Given the description of an element on the screen output the (x, y) to click on. 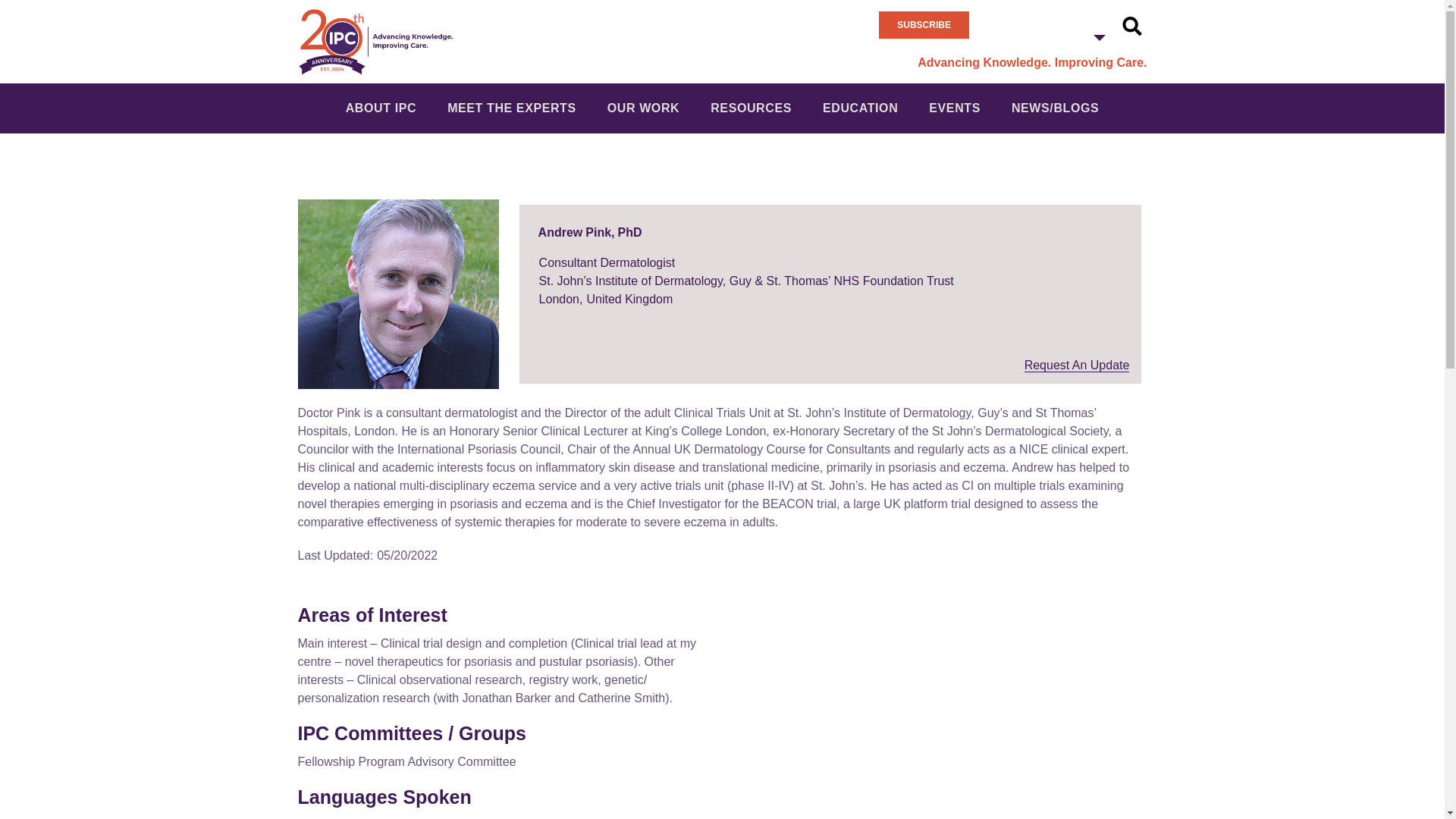
MEET THE EXPERTS (511, 108)
EDUCATION (860, 108)
OUR WORK (643, 108)
RESOURCES (750, 108)
ABOUT IPC (380, 108)
SUBSCRIBE (924, 24)
